Given the description of an element on the screen output the (x, y) to click on. 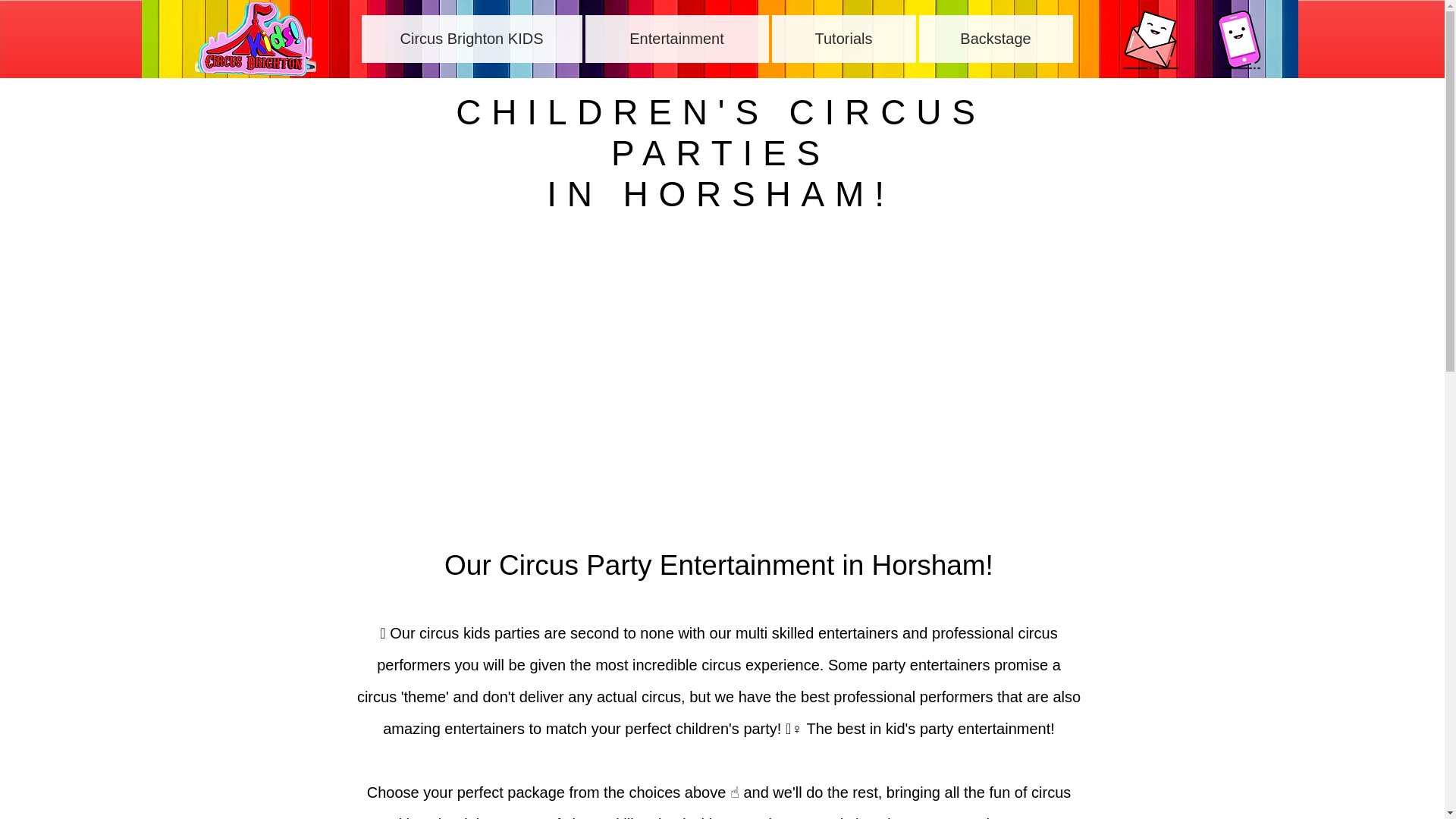
Circus Brighton KIDS (470, 39)
Backstage (995, 39)
Tutorials (843, 39)
Entertainment (676, 39)
